Given the description of an element on the screen output the (x, y) to click on. 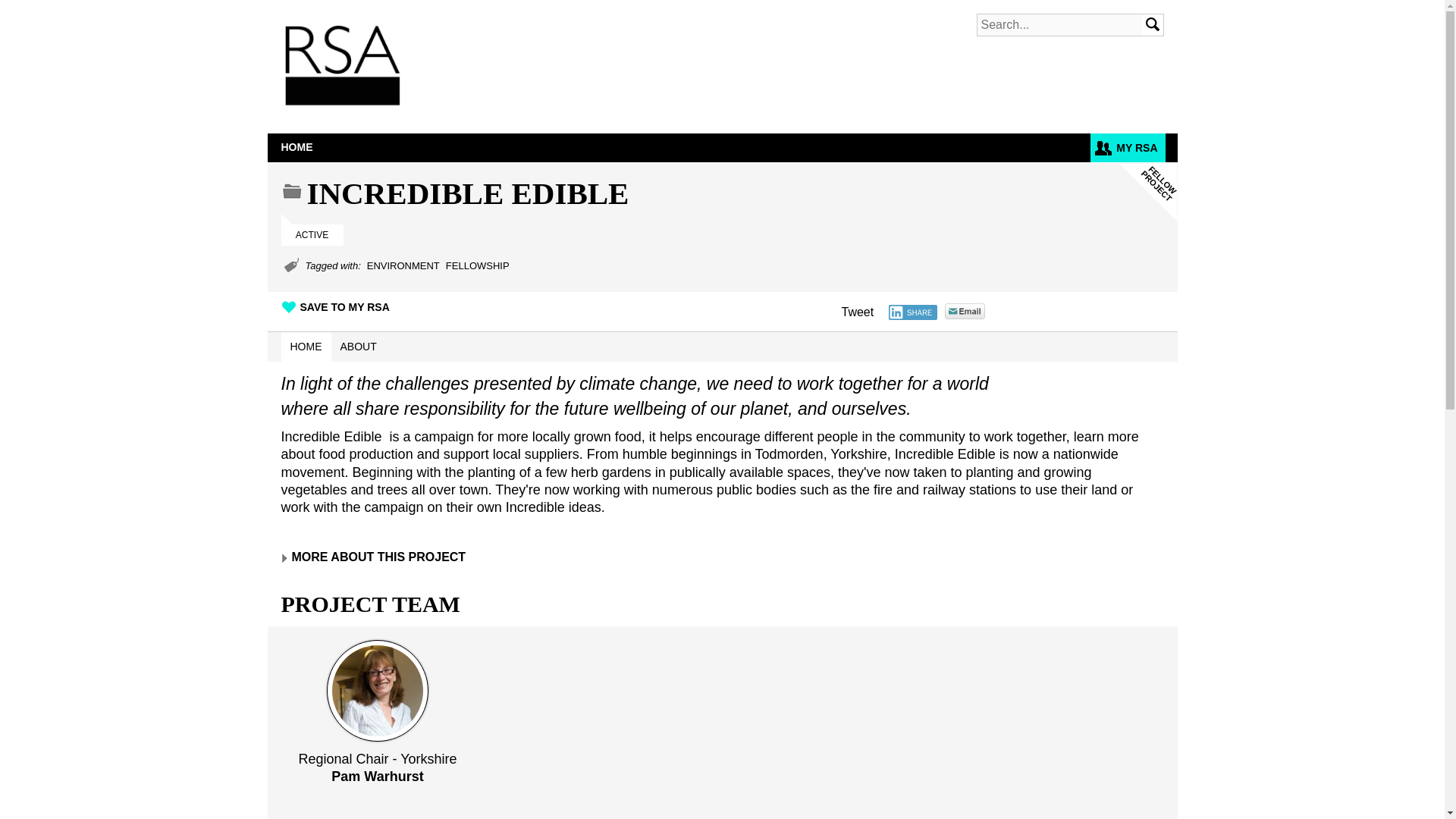
HOME (295, 147)
HOME (305, 346)
ABOUT (357, 346)
MY RSA (1127, 147)
Tweet (858, 311)
ENVIRONMENT (402, 265)
FELLOWSHIP (477, 265)
SHARE (912, 312)
GO (1152, 25)
SAVE TO MY RSA (334, 306)
